Given the description of an element on the screen output the (x, y) to click on. 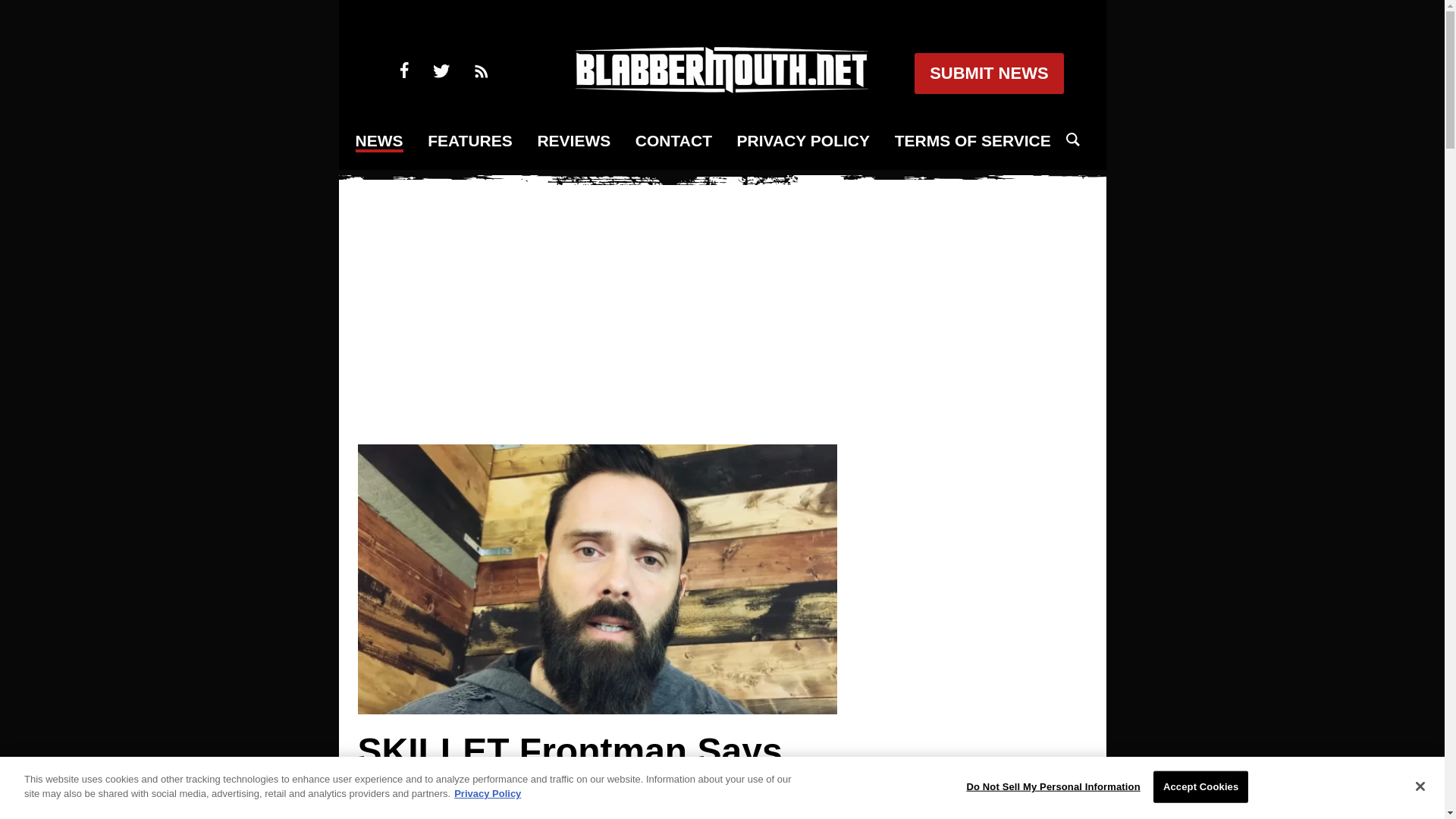
search icon (1072, 139)
SUBMIT NEWS (988, 73)
NEWS (379, 141)
FEATURES (470, 140)
CONTACT (672, 140)
REVIEWS (573, 140)
blabbermouth (721, 88)
TERMS OF SERVICE (973, 140)
PRIVACY POLICY (802, 140)
